Given the description of an element on the screen output the (x, y) to click on. 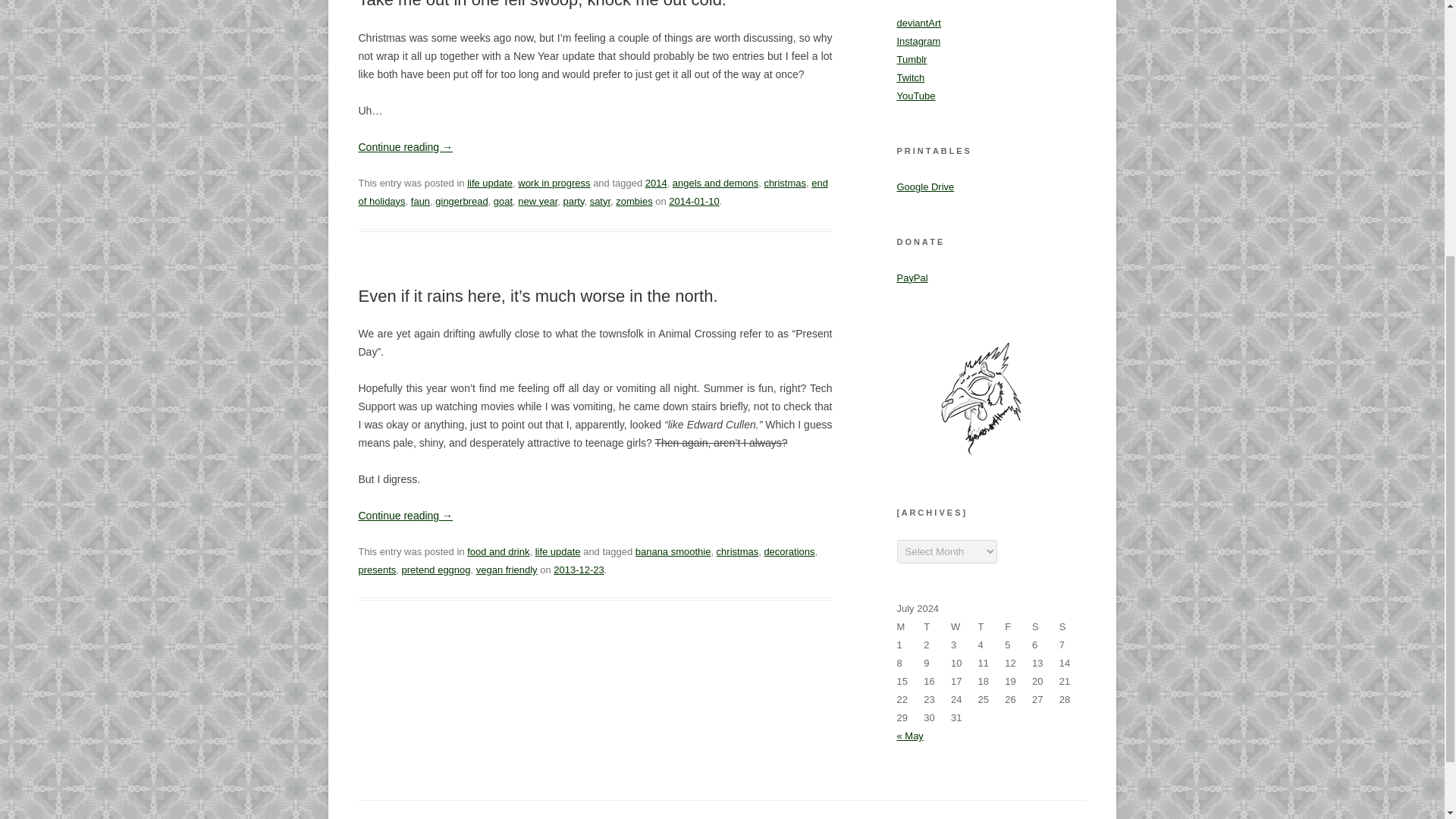
gingerbread (461, 201)
life update (557, 551)
Saturday (1045, 627)
angels and demons (715, 183)
2014 (655, 183)
food and drink (498, 551)
Wednesday (964, 627)
Sunday (1072, 627)
Tuesday (936, 627)
new year (537, 201)
Monday (909, 627)
Instagram (918, 41)
pretend eggnog (435, 569)
14:49 (578, 569)
